Given the description of an element on the screen output the (x, y) to click on. 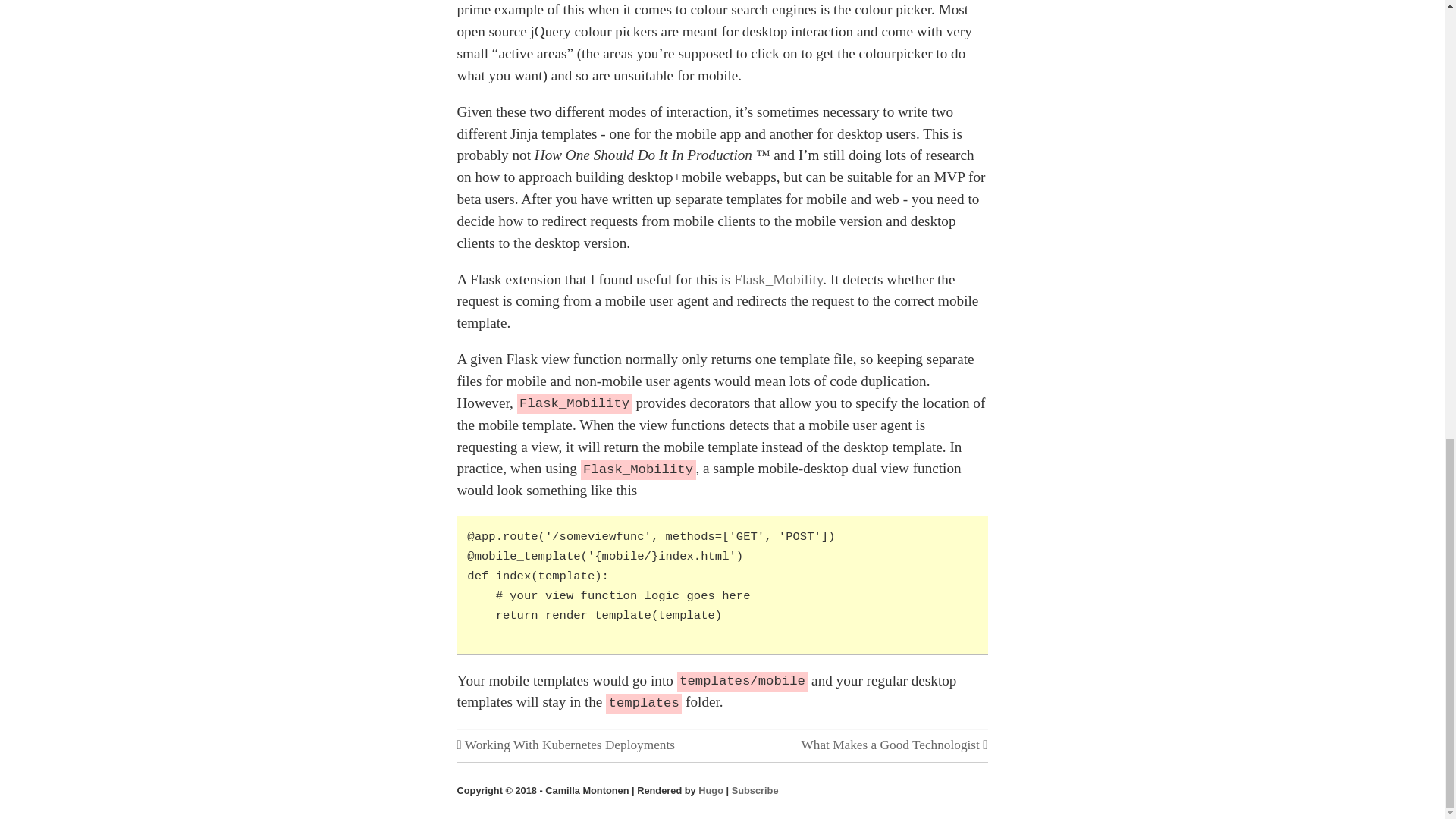
Hugo (710, 790)
What Makes a Good Technologist (895, 744)
Subscribe (755, 790)
Working With Kubernetes Deployments (565, 744)
Hugo (710, 790)
